Given the description of an element on the screen output the (x, y) to click on. 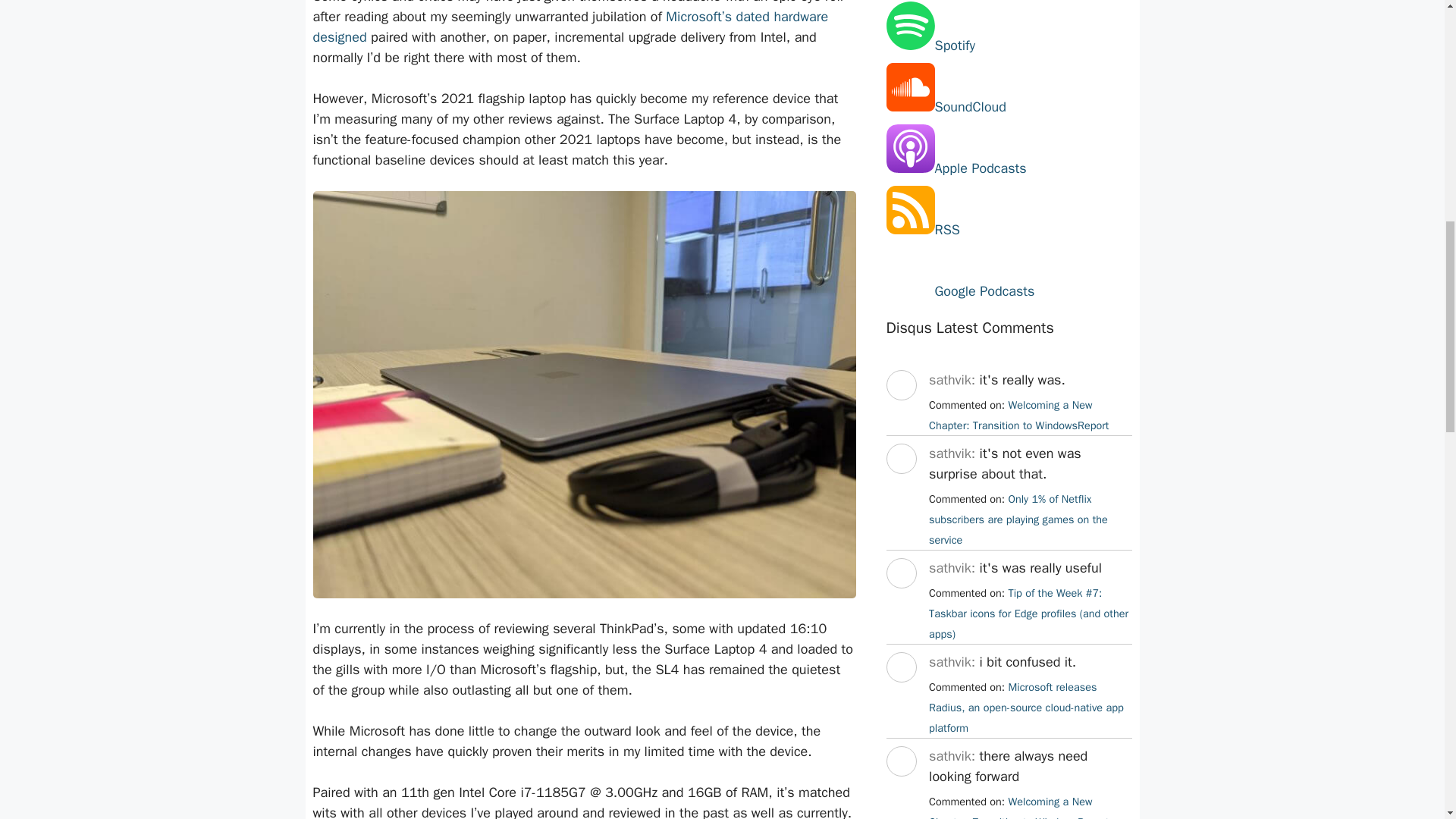
sathvik (900, 601)
May 20, 2024 (1018, 806)
sathvik (900, 790)
July 8, 2024 (1028, 613)
sathvik (900, 413)
July 24, 2024 (1018, 415)
sathvik (900, 487)
sathvik (900, 695)
July 11, 2024 (1018, 519)
June 15, 2024 (1026, 707)
